Given the description of an element on the screen output the (x, y) to click on. 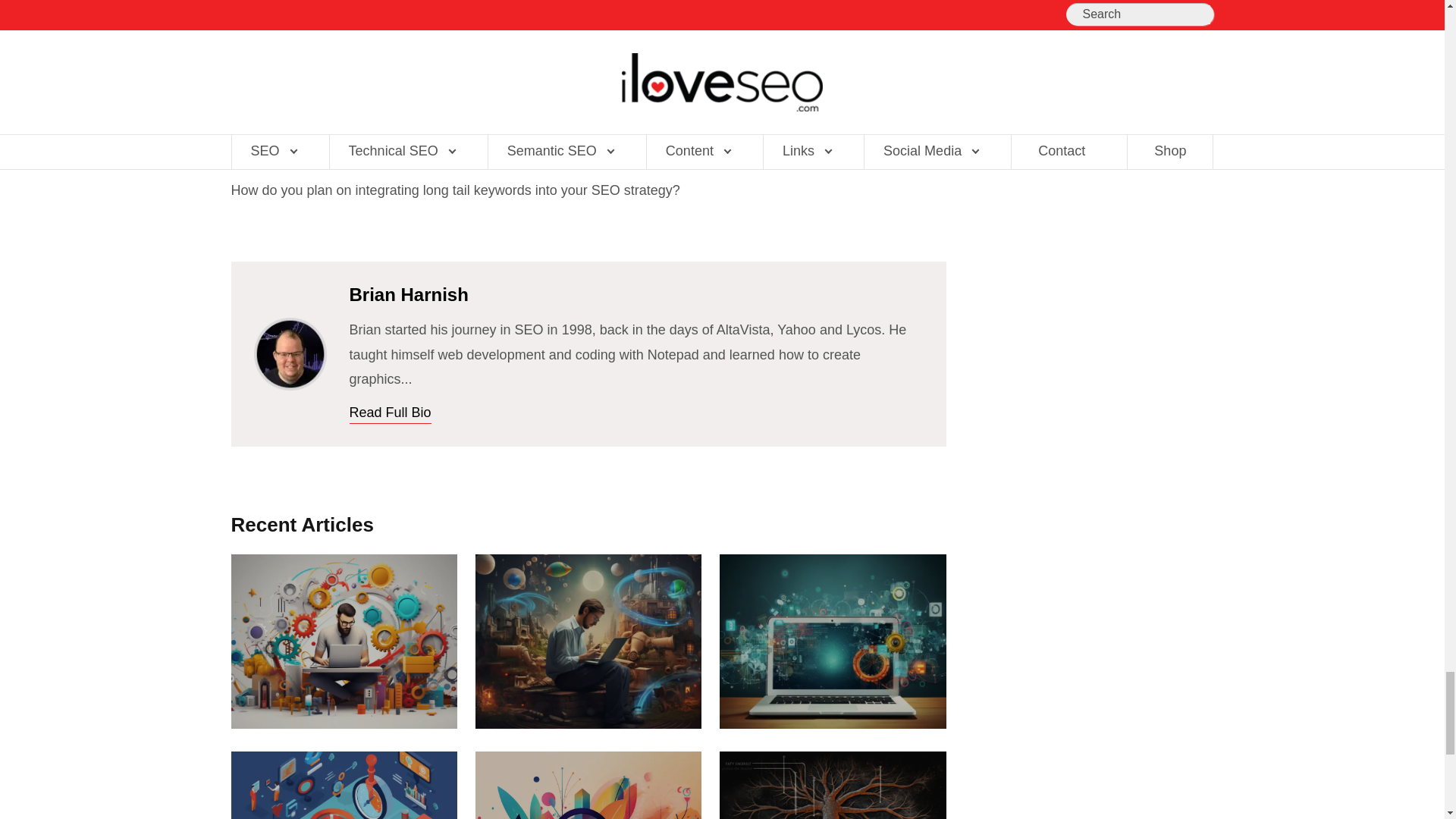
Read Full Bio (389, 413)
Brian Harnish (289, 329)
Brian Harnish (289, 353)
Skills Every SEO Pro Needs for Success (343, 641)
